Given the description of an element on the screen output the (x, y) to click on. 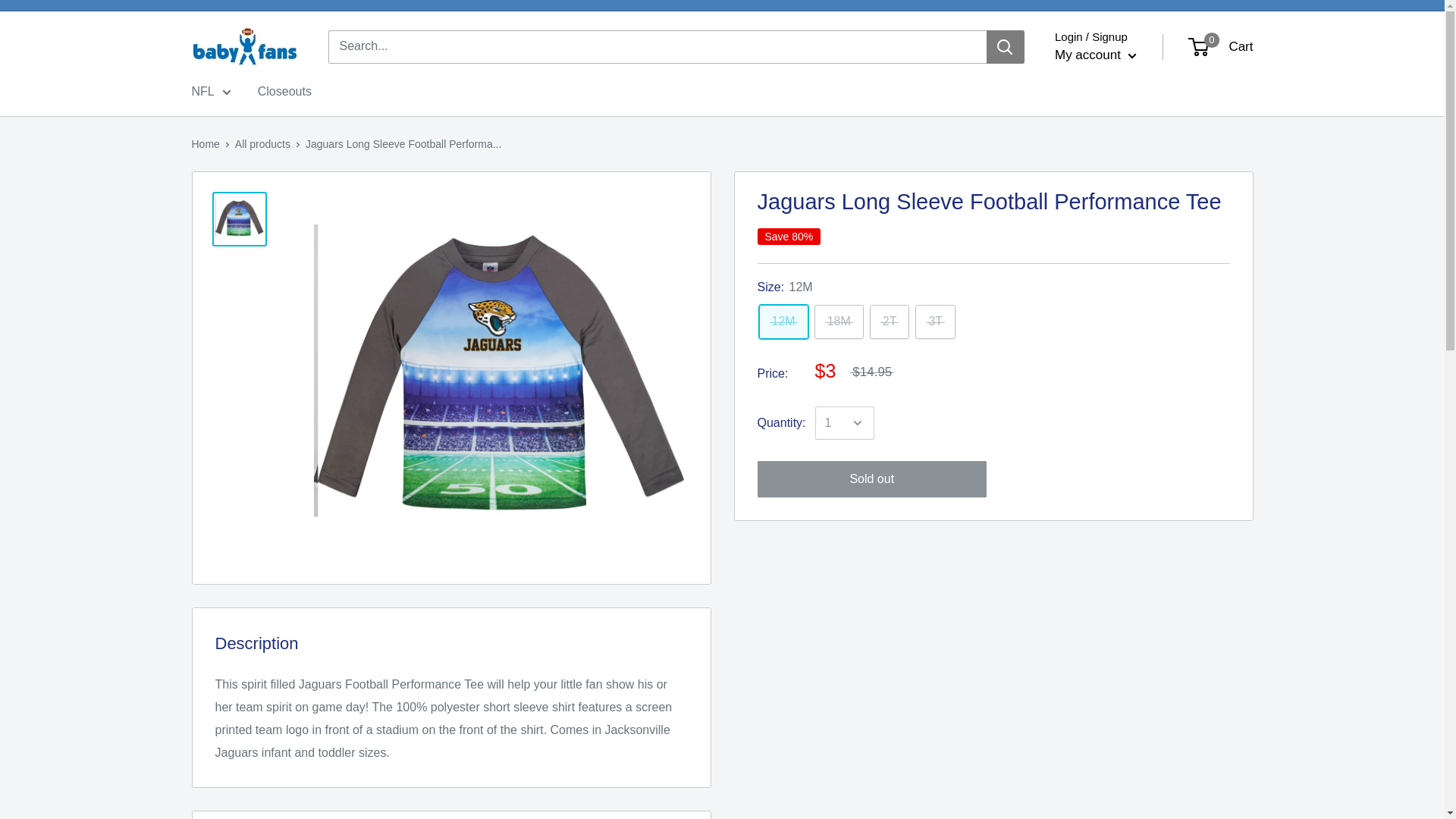
18M (838, 321)
12M (783, 321)
2T (889, 321)
3T (935, 321)
